Given the description of an element on the screen output the (x, y) to click on. 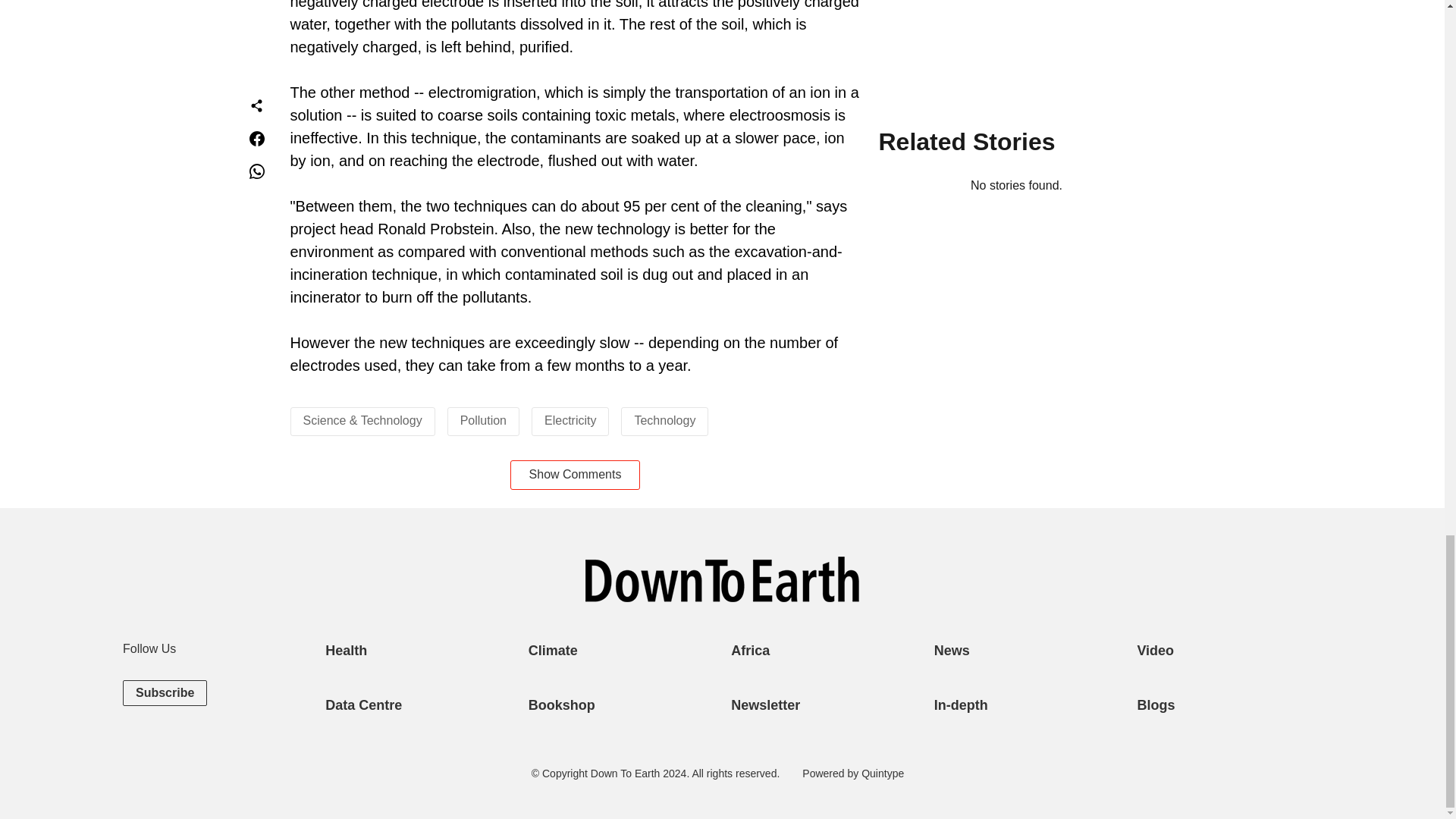
Pollution (483, 420)
Show Comments (575, 474)
Technology (664, 420)
Electricity (569, 420)
